Given the description of an element on the screen output the (x, y) to click on. 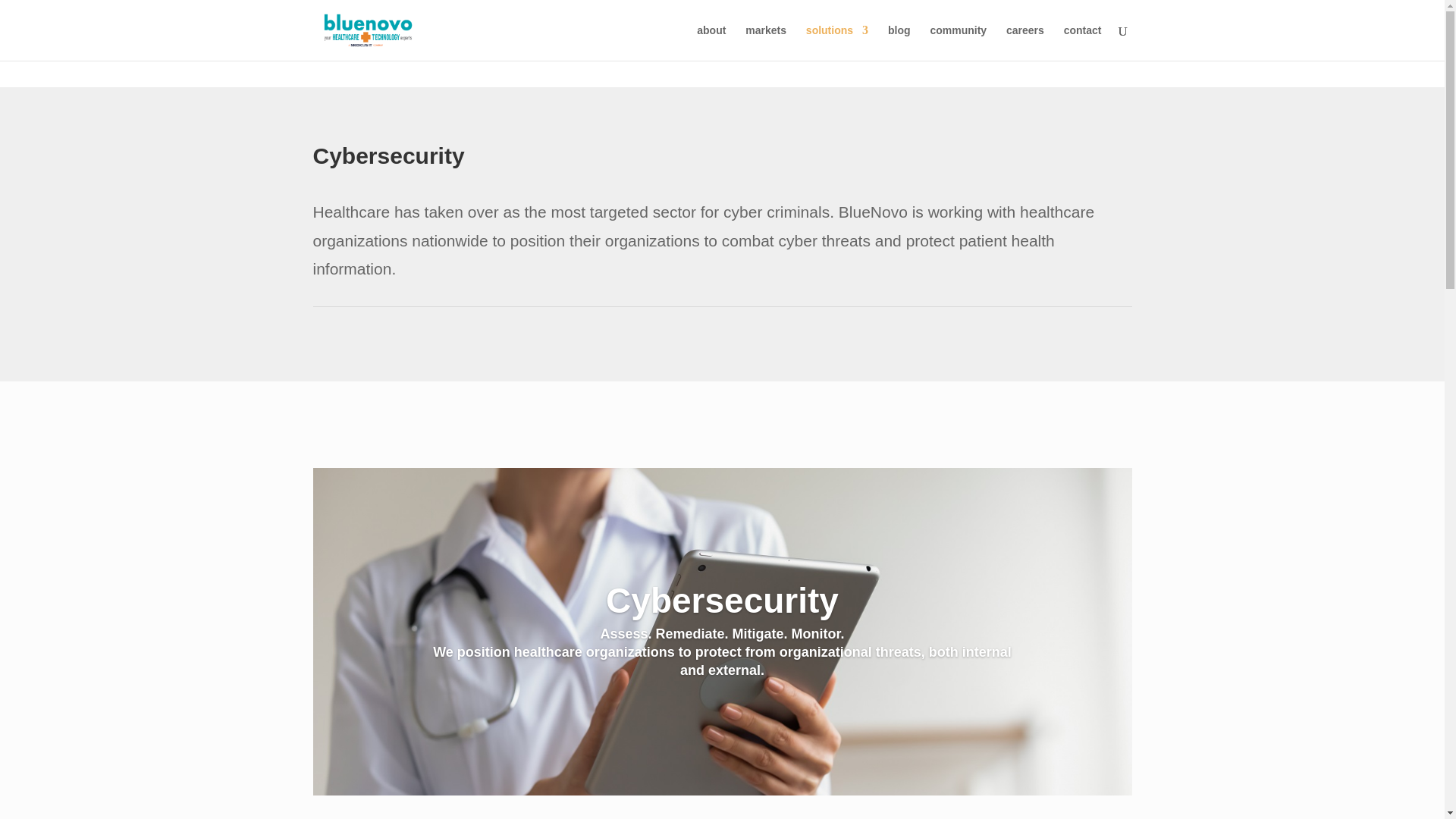
markets (765, 42)
community (958, 42)
contact (1083, 42)
solutions (836, 42)
careers (1024, 42)
